Given the description of an element on the screen output the (x, y) to click on. 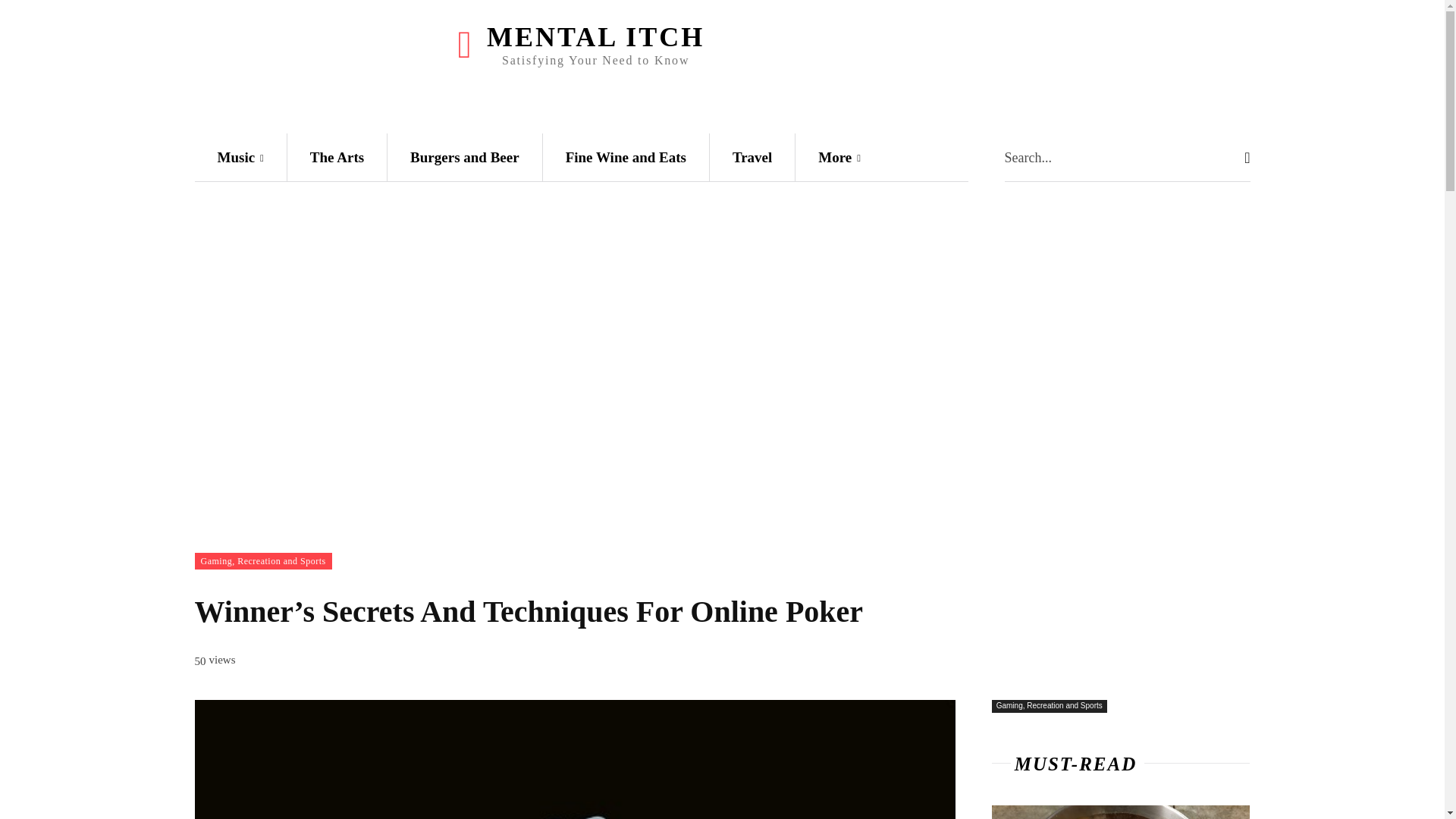
What Is Wort and Why Is It So Important for Beer Brewing? (1120, 812)
Secrets And Techniques For Online Poker (574, 759)
